Given the description of an element on the screen output the (x, y) to click on. 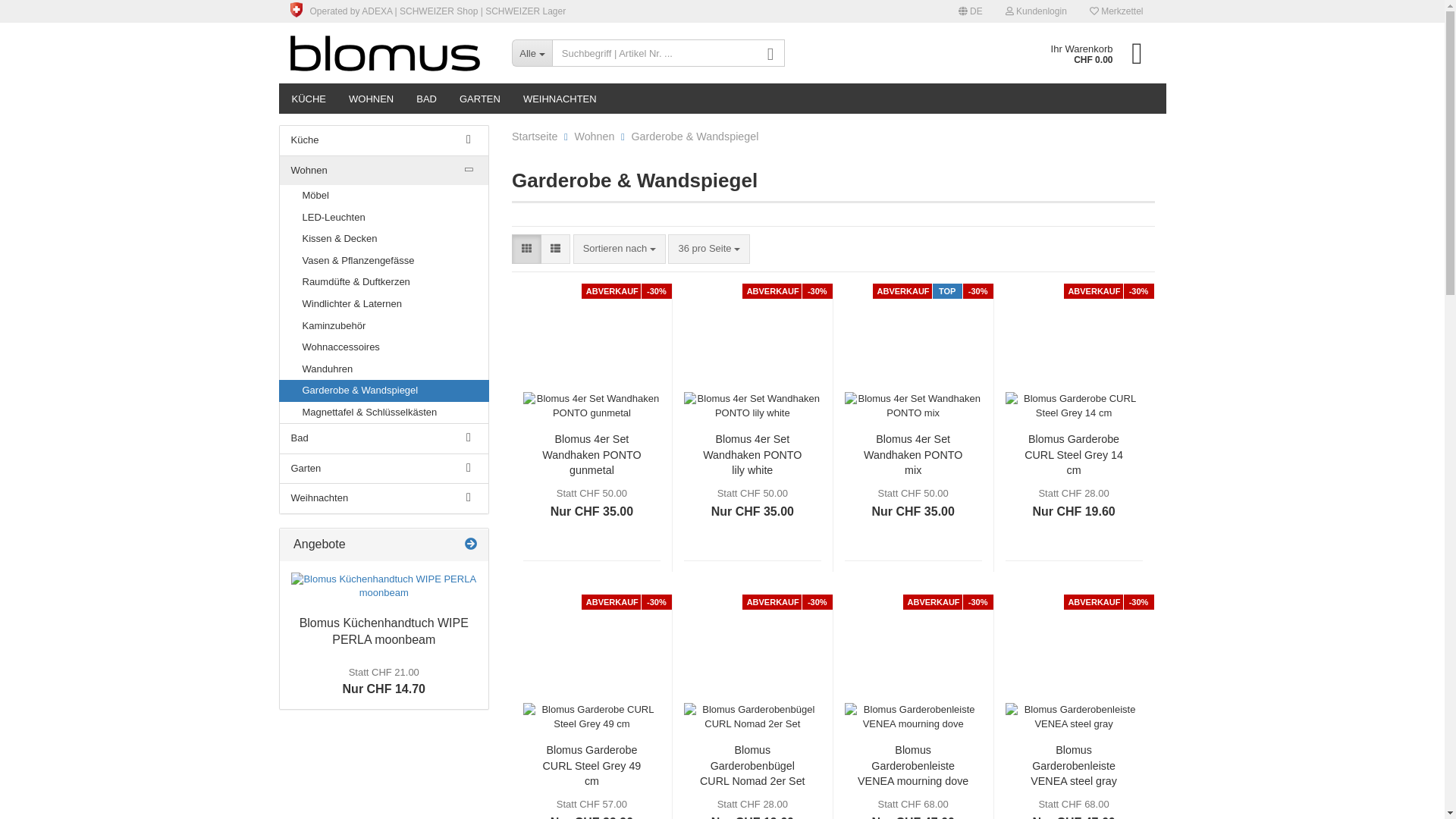
Blomus Garderobenleiste VENEA mourning dove Element type: hover (913, 662)
BLOMUS.CH Element type: hover (389, 52)
GARTEN Element type: text (479, 98)
Operated by ADEXA | SCHWEIZER Shop | SCHWEIZER Lager Element type: text (428, 11)
Blomus Garderobe CURL Steel Grey 49 cm Element type: text (591, 764)
Bad Element type: text (383, 438)
Wohnen Element type: text (594, 136)
BAD Element type: text (426, 98)
Startseite Element type: text (534, 136)
Angebote Element type: hover (470, 544)
 Merkzettel Element type: text (1116, 11)
Wohnen Element type: text (383, 170)
Alle Element type: text (531, 52)
Sortieren nach Element type: text (619, 248)
WOHNEN Element type: text (370, 98)
Blomus Garderobenleiste VENEA steel gray Element type: hover (1073, 662)
Garten Element type: text (383, 468)
Garderobe & Wandspiegel Element type: text (384, 390)
Weihnachten Element type: text (383, 498)
Operated by ADEXA - Schweizer Shop mit Schweizer Lager Element type: hover (295, 9)
Blomus Garderobe CURL Steel Grey 14 cm Element type: hover (1073, 351)
WEIHNACHTEN Element type: text (559, 98)
36 pro Seite Element type: text (708, 248)
DE Element type: text (970, 11)
Statt CHF 21.00
Nur CHF 14.70 Element type: text (383, 680)
Blomus Garderobe CURL Steel Grey 49 cm Element type: hover (591, 662)
Blomus 4er Set Wandhaken PONTO lily white Element type: hover (752, 351)
Blomus Garderobenleiste VENEA mourning dove Element type: text (913, 764)
Blomus 4er Set Wandhaken PONTO mix Element type: hover (913, 351)
Blomus Garderobenleiste VENEA steel gray Element type: text (1073, 764)
Wohnaccessoires Element type: text (383, 347)
Blomus 4er Set Wandhaken PONTO mix Element type: text (913, 453)
Blomus Garderobe CURL Steel Grey 14 cm Element type: text (1073, 453)
Blomus 4er Set Wandhaken PONTO gunmetal Element type: text (591, 453)
Anmelden Element type: text (952, 185)
LED-Leuchten Element type: text (383, 218)
Windlichter & Laternen Element type: text (383, 304)
Speichern Element type: text (887, 180)
Ihr Warenkorb
CHF 0.00 Element type: text (1091, 52)
Blomus 4er Set Wandhaken PONTO lily white Element type: text (752, 453)
Blomus 4er Set Wandhaken PONTO gunmetal Element type: hover (591, 351)
Wanduhren Element type: text (383, 369)
Kissen & Decken Element type: text (383, 239)
 Kundenlogin Element type: text (1036, 11)
